Given the description of an element on the screen output the (x, y) to click on. 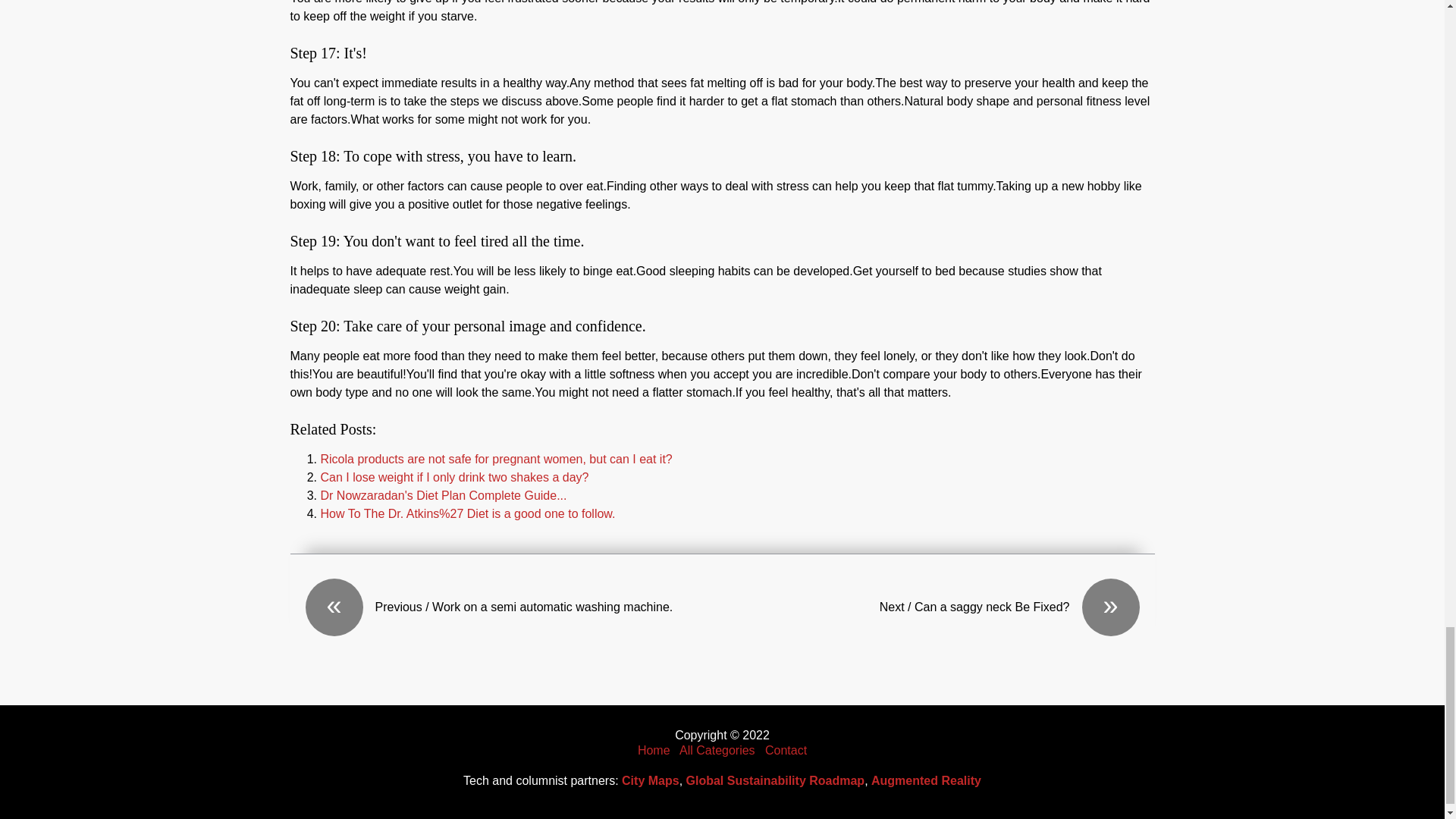
Categories (717, 749)
Global Sustainability Roadmap (774, 780)
Parkers Legacy (653, 749)
Augmented Reality (925, 780)
Can I lose weight if I only drink two shakes a day? (454, 477)
Contact (785, 749)
City Maps (650, 780)
Work on a semi automatic washing machine. (513, 606)
Can a saggy neck Be Fixed? (930, 606)
Home (653, 749)
